Given the description of an element on the screen output the (x, y) to click on. 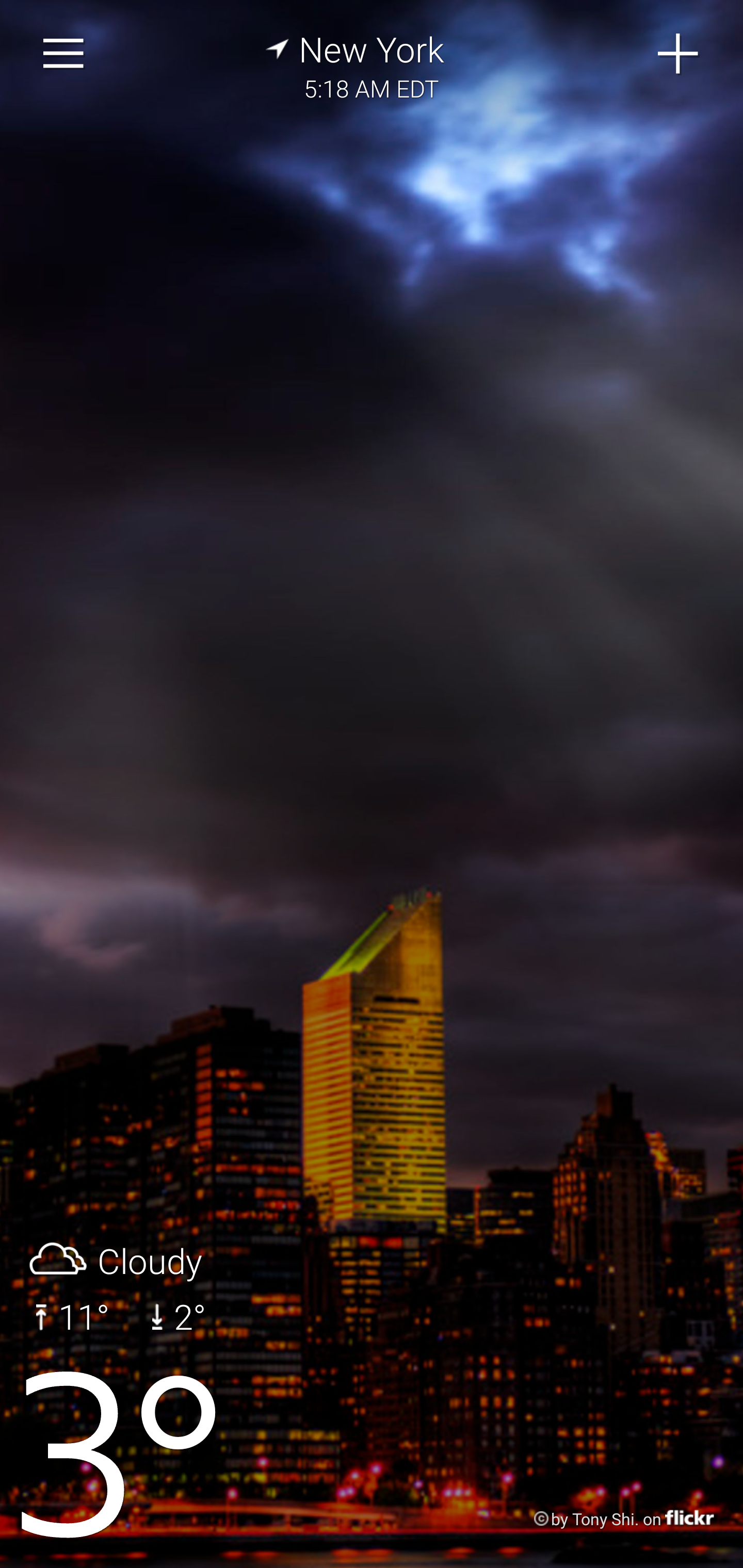
Sidebar (64, 54)
Add City (678, 53)
